Given the description of an element on the screen output the (x, y) to click on. 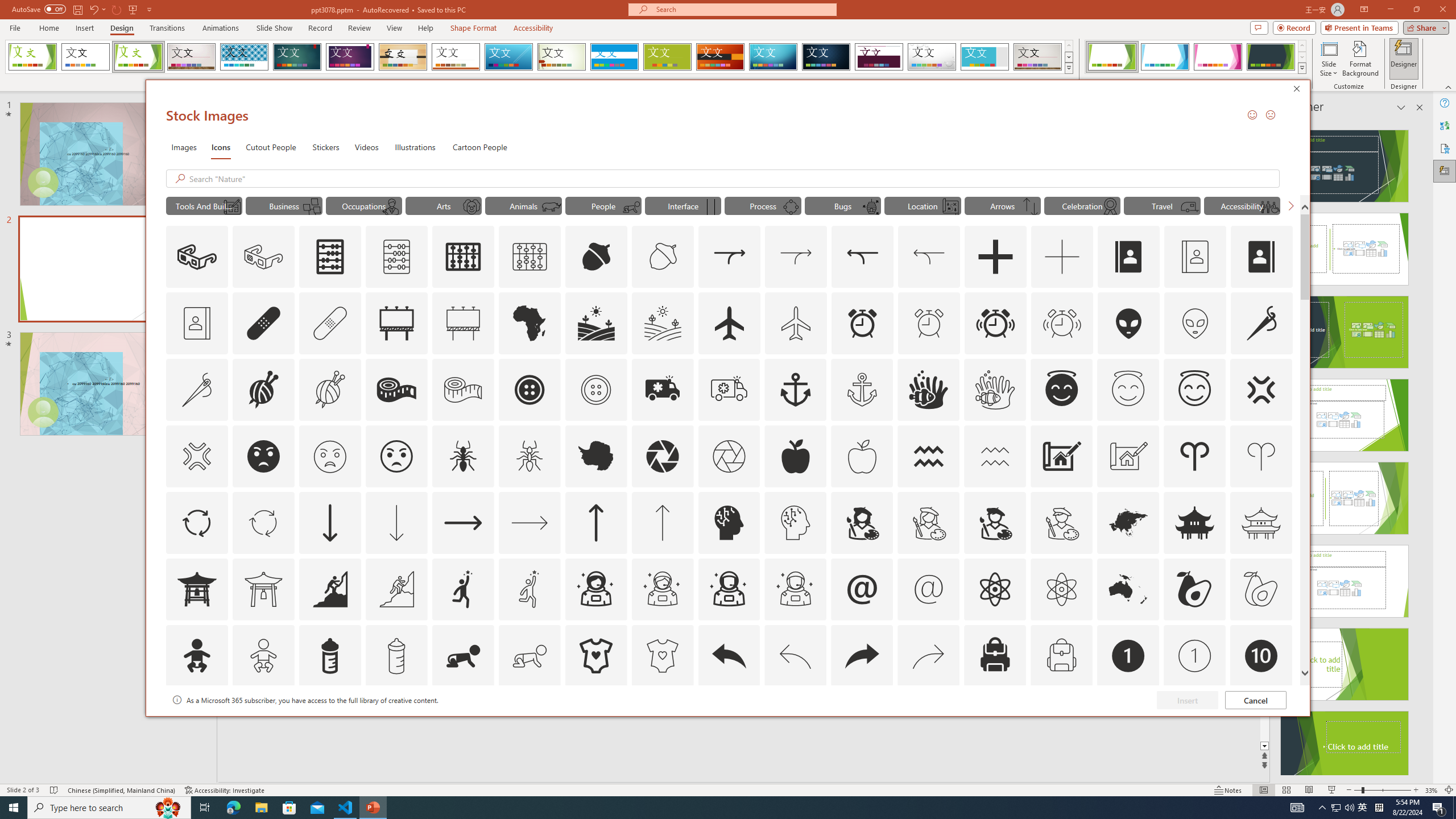
Cancel (1255, 700)
AutomationID: Icons_Badge8_M (1128, 721)
AutomationID: Icons_AngelFace (1061, 389)
AutomationID: Icons_Back_LTR (729, 655)
AutomationID: Icons_Aquarius (928, 455)
AutomationID: Icons_BabyCrawling (462, 655)
Frame (984, 56)
AutomationID: Icons_Badge9_M (1260, 721)
